Given the description of an element on the screen output the (x, y) to click on. 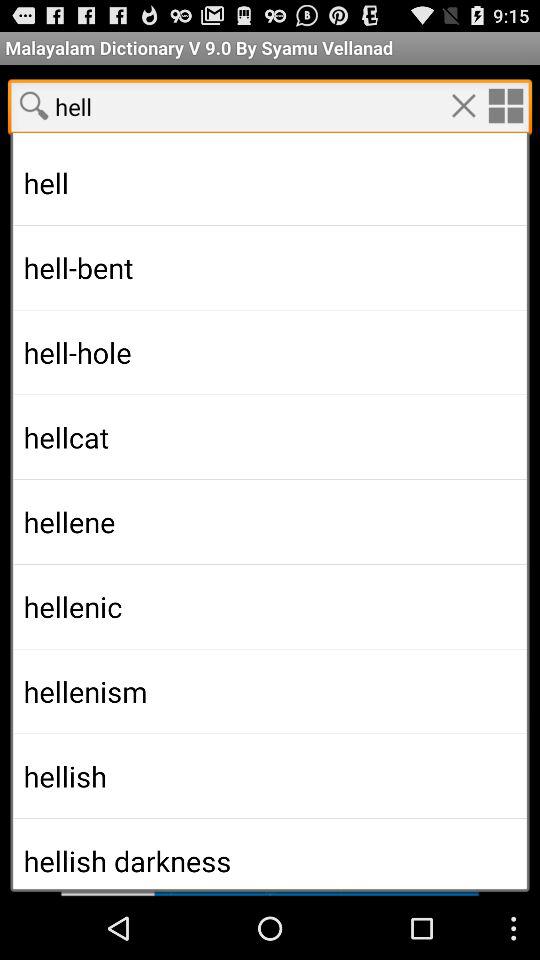
options (505, 105)
